Given the description of an element on the screen output the (x, y) to click on. 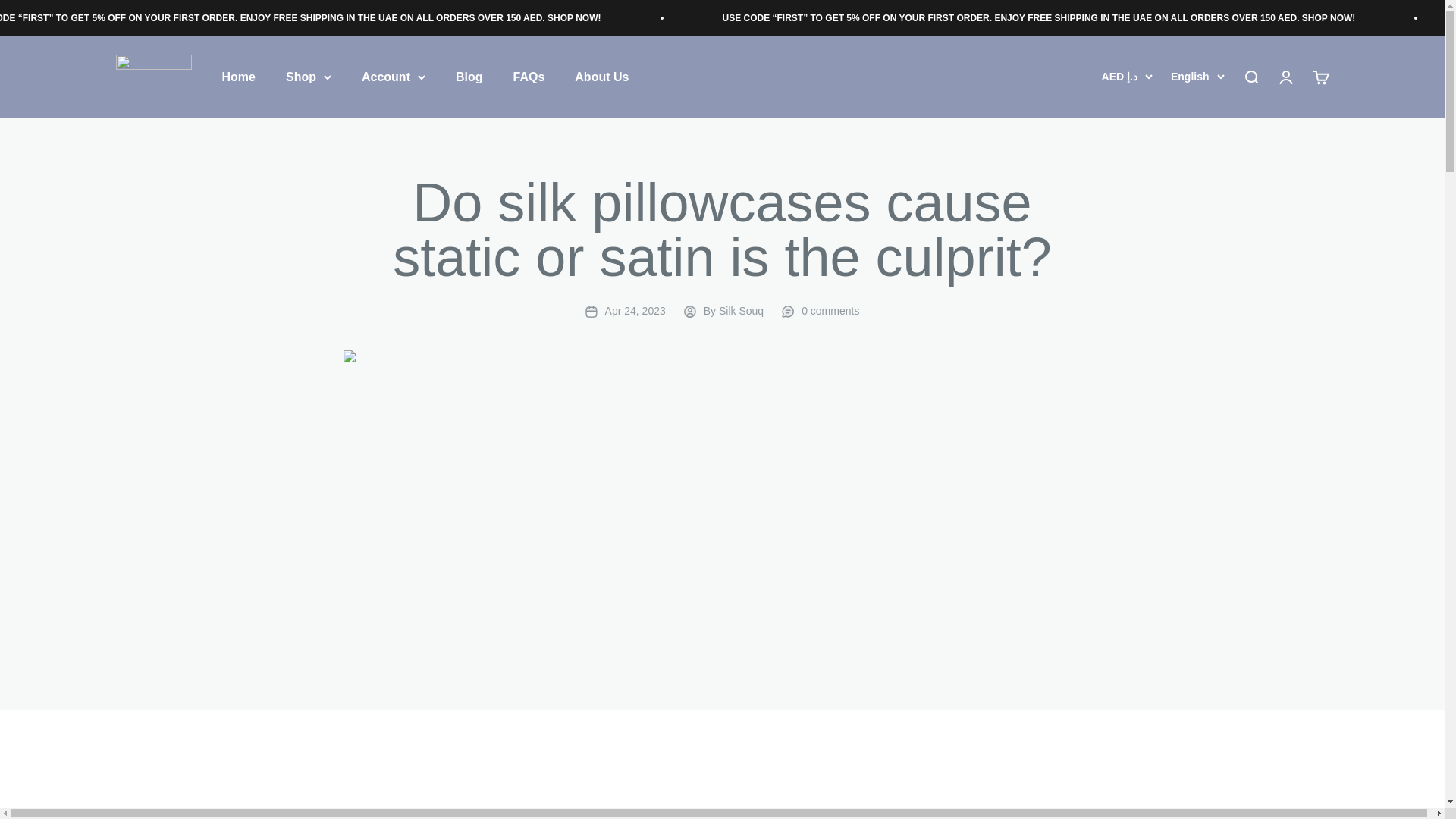
Home (237, 76)
English (1197, 76)
FAQs (528, 76)
SilkSouq (152, 76)
About Us (601, 76)
Blog (469, 76)
